Given the description of an element on the screen output the (x, y) to click on. 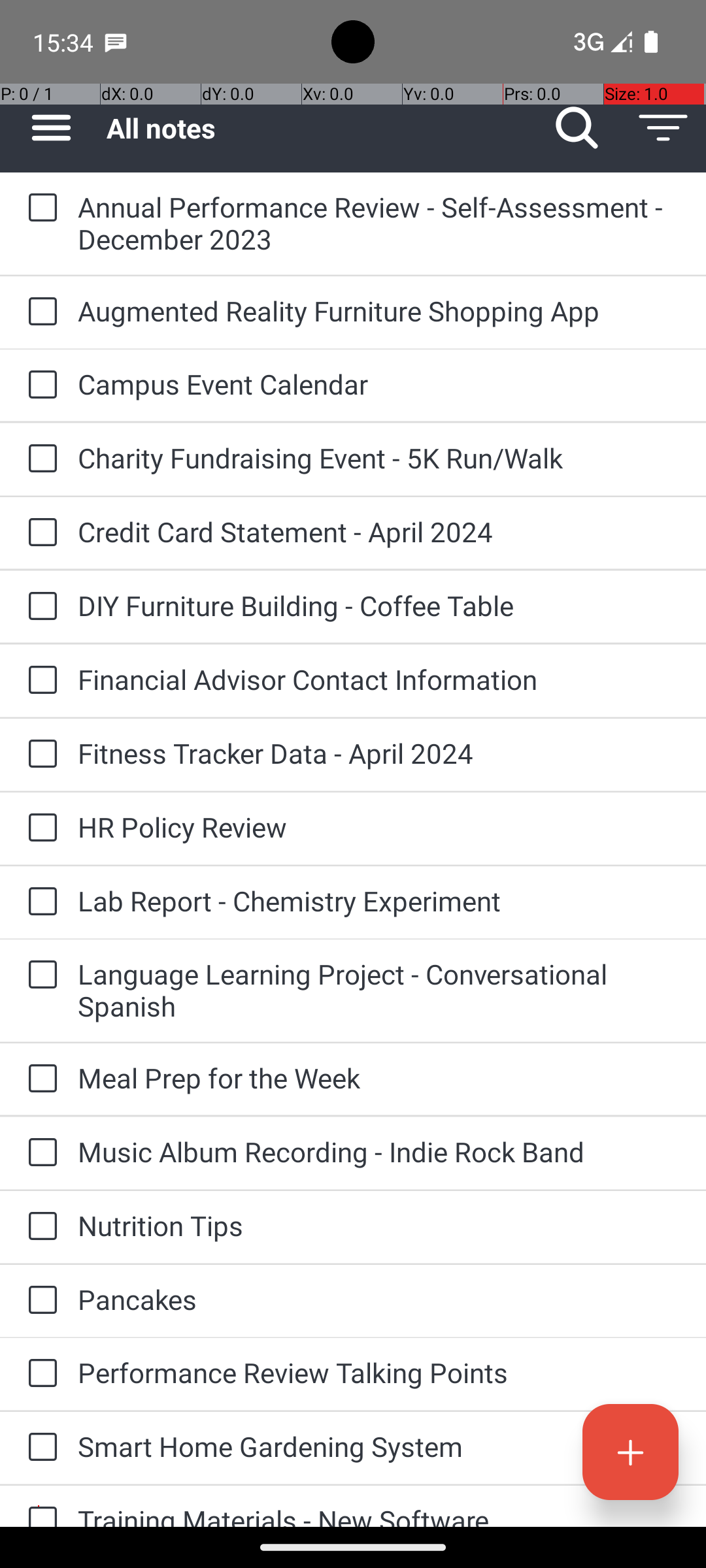
to-do: Annual Performance Review - Self-Assessment - December 2023 Element type: android.widget.CheckBox (38, 208)
Annual Performance Review - Self-Assessment - December 2023 Element type: android.widget.TextView (378, 222)
to-do: Augmented Reality Furniture Shopping App Element type: android.widget.CheckBox (38, 312)
Augmented Reality Furniture Shopping App Element type: android.widget.TextView (378, 310)
to-do: Campus Event Calendar Element type: android.widget.CheckBox (38, 385)
Campus Event Calendar Element type: android.widget.TextView (378, 383)
to-do: Charity Fundraising Event - 5K Run/Walk Element type: android.widget.CheckBox (38, 459)
Charity Fundraising Event - 5K Run/Walk Element type: android.widget.TextView (378, 457)
to-do: Credit Card Statement - April 2024 Element type: android.widget.CheckBox (38, 533)
Credit Card Statement - April 2024 Element type: android.widget.TextView (378, 531)
to-do: DIY Furniture Building - Coffee Table Element type: android.widget.CheckBox (38, 606)
DIY Furniture Building - Coffee Table Element type: android.widget.TextView (378, 604)
to-do: Financial Advisor Contact Information Element type: android.widget.CheckBox (38, 680)
Financial Advisor Contact Information Element type: android.widget.TextView (378, 678)
to-do: Fitness Tracker Data - April 2024 Element type: android.widget.CheckBox (38, 754)
Fitness Tracker Data - April 2024 Element type: android.widget.TextView (378, 752)
to-do: HR Policy Review Element type: android.widget.CheckBox (38, 828)
HR Policy Review Element type: android.widget.TextView (378, 826)
to-do: Lab Report - Chemistry Experiment Element type: android.widget.CheckBox (38, 902)
Lab Report - Chemistry Experiment Element type: android.widget.TextView (378, 900)
to-do: Language Learning Project - Conversational Spanish Element type: android.widget.CheckBox (38, 975)
Language Learning Project - Conversational Spanish Element type: android.widget.TextView (378, 989)
to-do: Meal Prep for the Week Element type: android.widget.CheckBox (38, 1079)
Meal Prep for the Week Element type: android.widget.TextView (378, 1077)
to-do: Music Album Recording - Indie Rock Band Element type: android.widget.CheckBox (38, 1153)
Music Album Recording - Indie Rock Band Element type: android.widget.TextView (378, 1151)
to-do: Nutrition Tips Element type: android.widget.CheckBox (38, 1226)
Nutrition Tips Element type: android.widget.TextView (378, 1224)
to-do: Pancakes Element type: android.widget.CheckBox (38, 1300)
Pancakes Element type: android.widget.TextView (378, 1298)
to-do: Performance Review Talking Points Element type: android.widget.CheckBox (38, 1373)
Performance Review Talking Points Element type: android.widget.TextView (378, 1371)
to-do: Smart Home Gardening System Element type: android.widget.CheckBox (38, 1447)
Smart Home Gardening System Element type: android.widget.TextView (378, 1445)
to-do: Training Materials - New Software Element type: android.widget.CheckBox (38, 1505)
Training Materials - New Software Element type: android.widget.TextView (378, 1513)
